Given the description of an element on the screen output the (x, y) to click on. 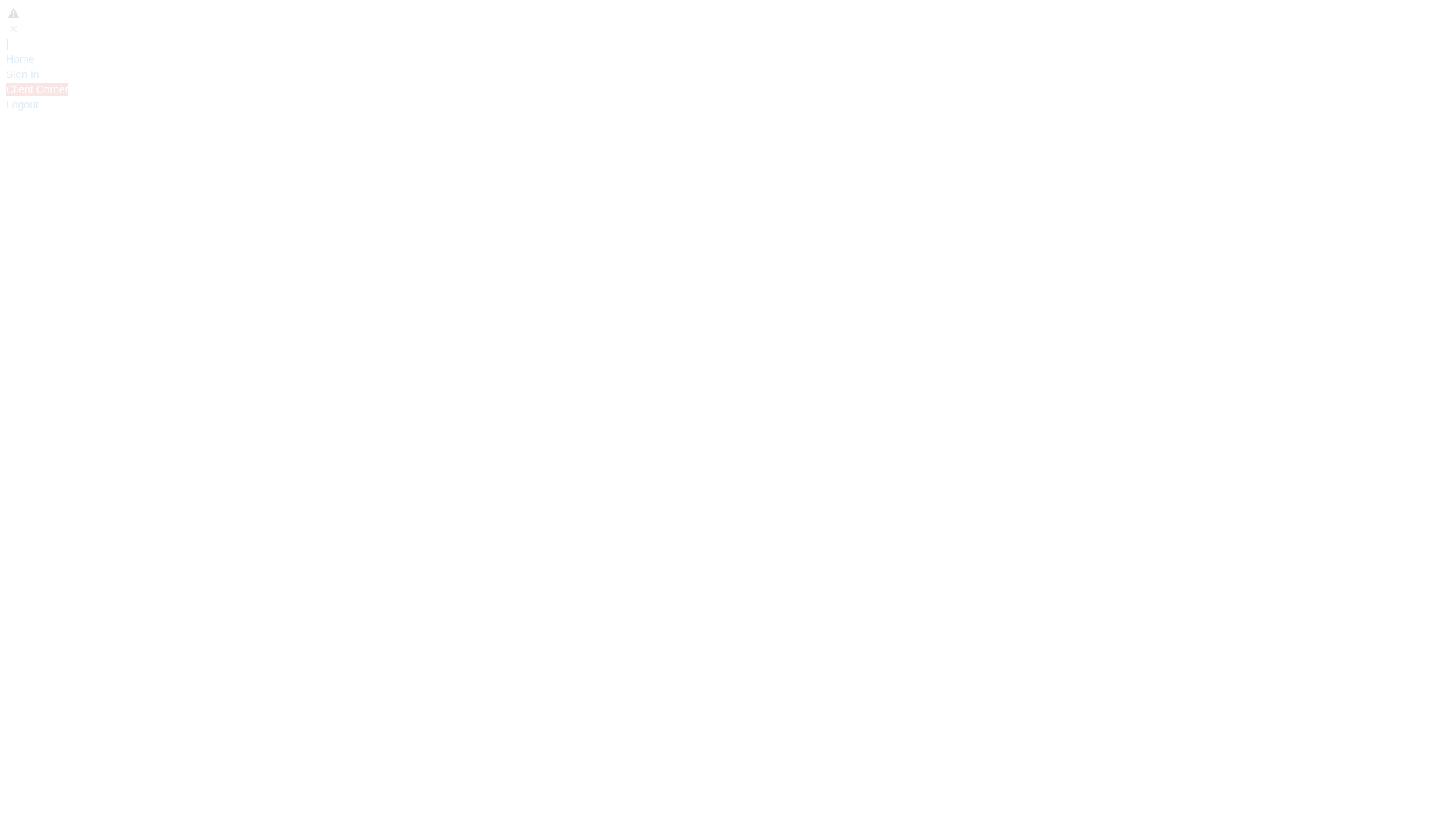
Home Element type: text (20, 59)
Sign In Element type: text (22, 74)
Client Corner Element type: text (37, 89)
Logout Element type: text (22, 104)
